Given the description of an element on the screen output the (x, y) to click on. 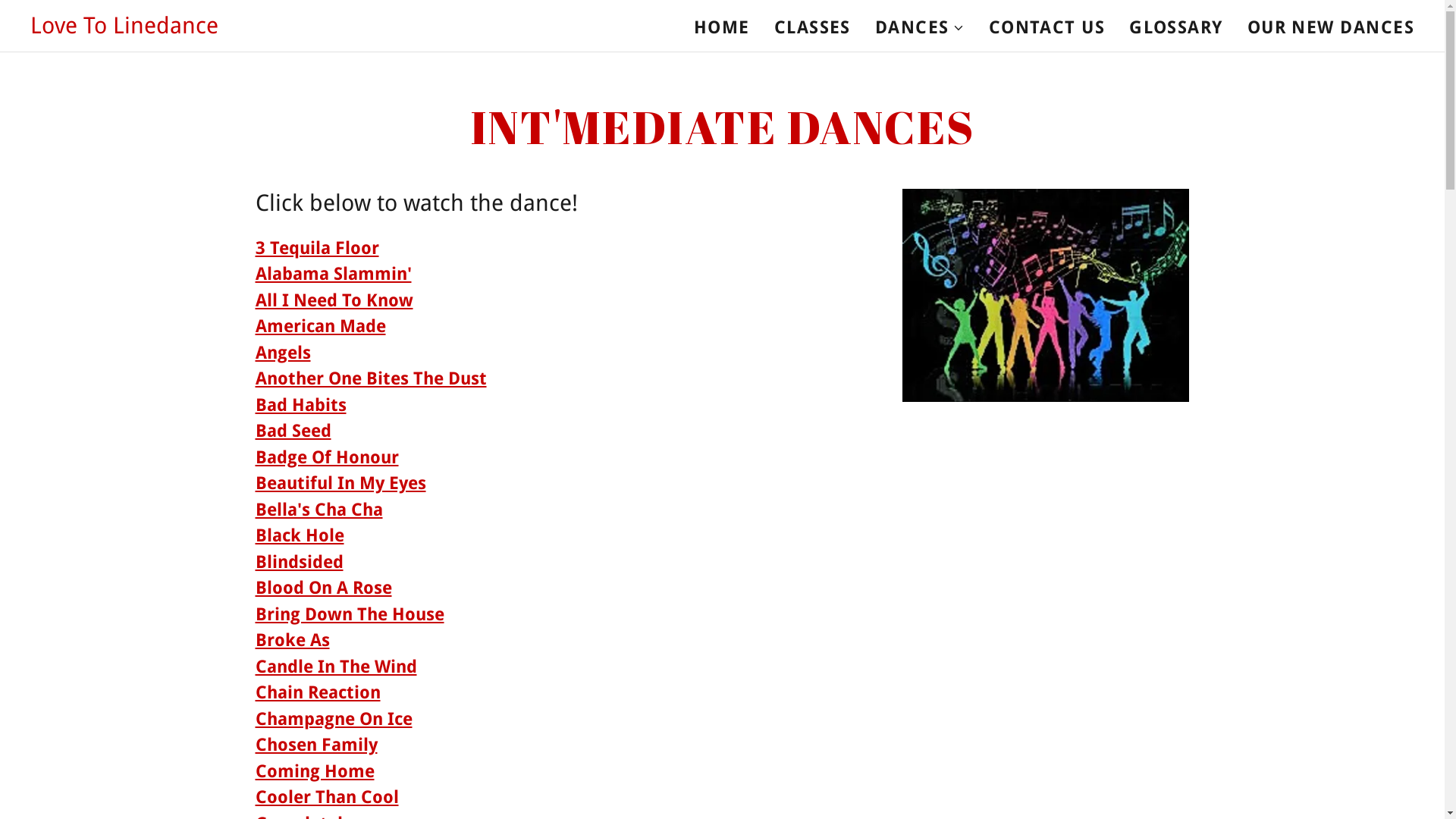
Beautiful In My Eyes Element type: text (339, 483)
Champagne On Ice Element type: text (332, 718)
OUR NEW DANCES Element type: text (1330, 26)
Cooler Than Cool Element type: text (326, 797)
DANCES Element type: text (919, 27)
Black Hole Element type: text (298, 535)
All I Need To Know Element type: text (333, 299)
HOME Element type: text (721, 26)
Chosen Family Element type: text (315, 744)
Love To Linedance Element type: text (124, 27)
Bring Down The House Element type: text (348, 613)
American Made Element type: text (319, 326)
Bad Habits Element type: text (299, 404)
3 Tequila Floor Element type: text (316, 248)
CLASSES Element type: text (812, 26)
CONTACT US Element type: text (1047, 26)
Angels Element type: text (282, 352)
Another One Bites The Dust Element type: text (370, 378)
Badge Of Honour Element type: text (326, 457)
Coming Home Element type: text (313, 771)
Alabama Slammin' Element type: text (332, 273)
GLOSSARY Element type: text (1175, 26)
Bad Seed Element type: text (292, 430)
Bella's Cha Cha Element type: text (318, 508)
Blindsided Element type: text (298, 562)
Candle In The Wind Element type: text (335, 666)
Chain Reaction Element type: text (316, 692)
Blood On A Rose Element type: text (322, 587)
Broke As Element type: text (291, 640)
